Given the description of an element on the screen output the (x, y) to click on. 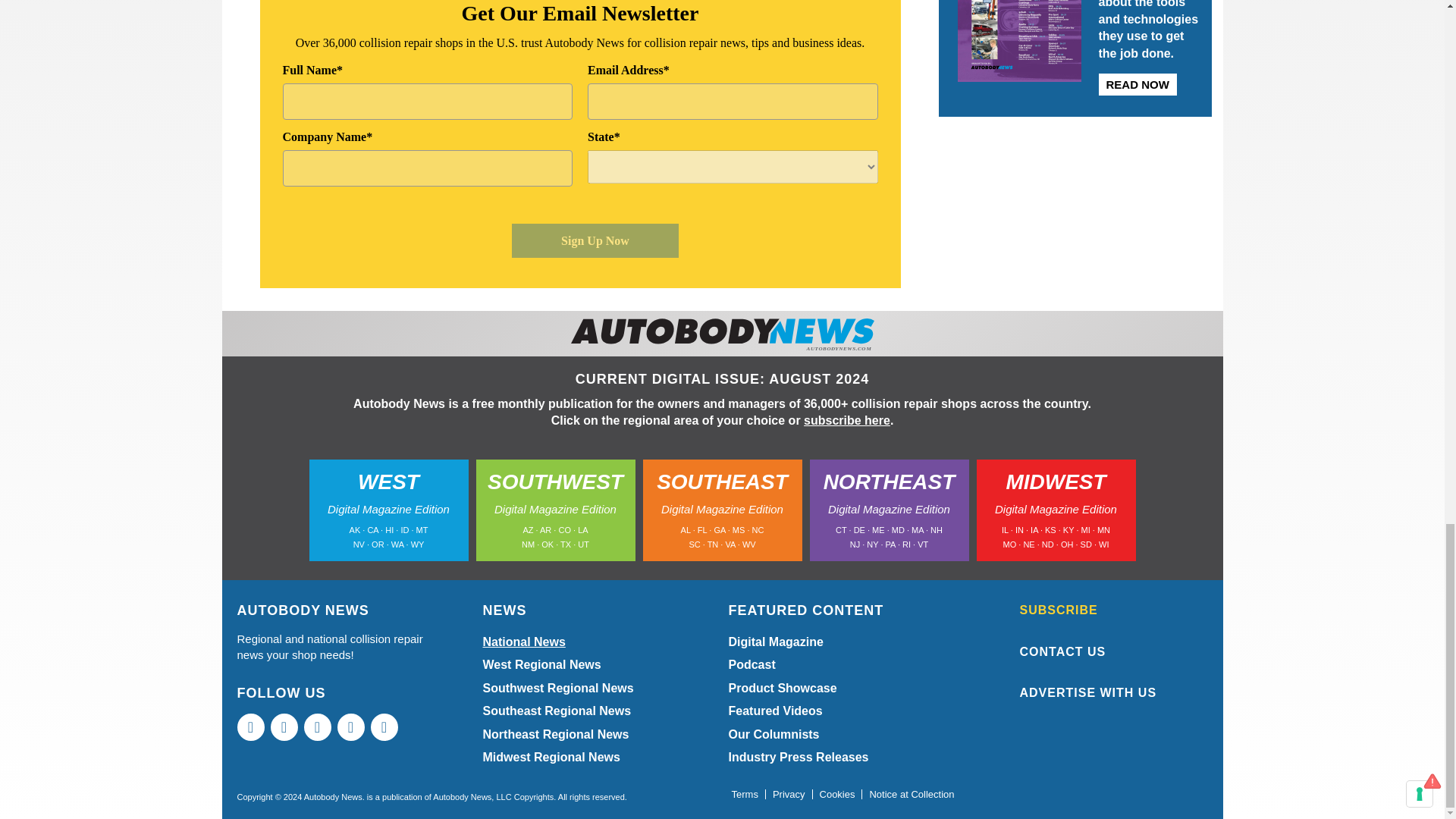
Auto Body News Privacy Policy (789, 794)
Auto Body News Cookie Policy (837, 794)
Auto Body News Notice at Collection Policy (911, 794)
